Given the description of an element on the screen output the (x, y) to click on. 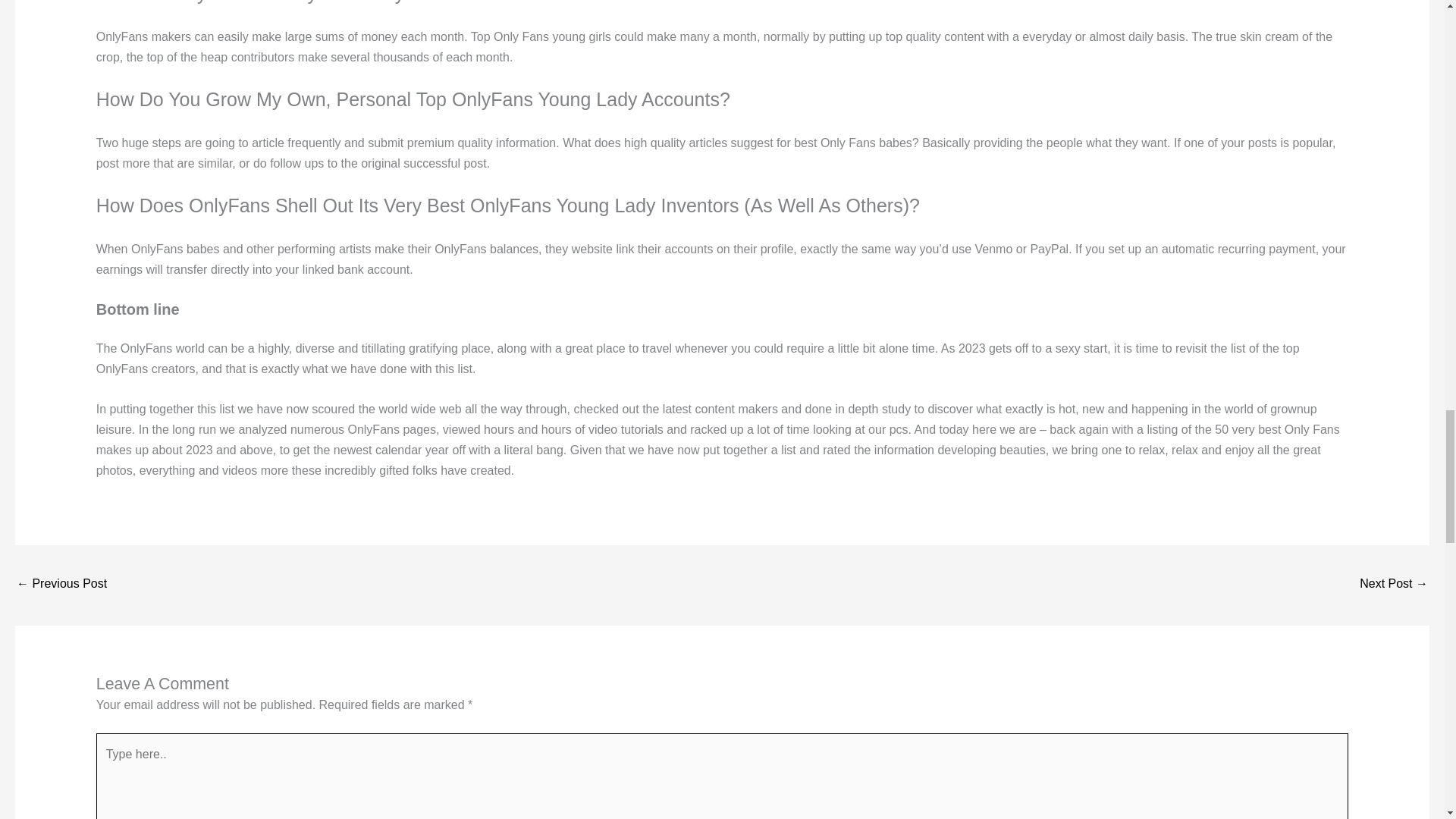
How to find like-minded individuals on Omegle (61, 584)
How to find specific interests on Omegle (1393, 584)
